Given the description of an element on the screen output the (x, y) to click on. 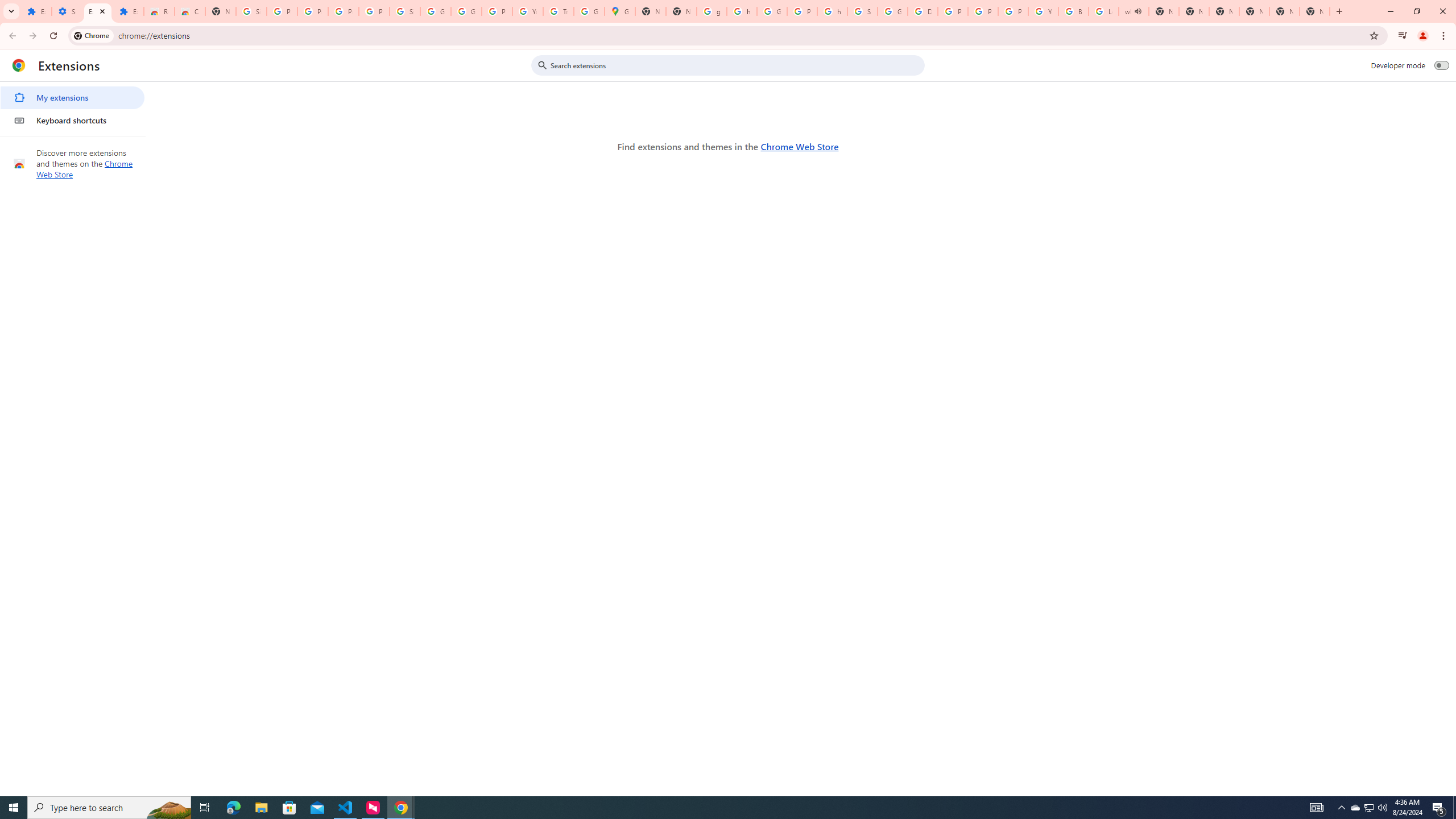
Developer mode (1442, 64)
Extensions (36, 11)
Sign in - Google Accounts (862, 11)
Sign in - Google Accounts (251, 11)
New Tab (220, 11)
AutomationID: sectionMenu (72, 106)
Privacy Help Center - Policies Help (952, 11)
